Given the description of an element on the screen output the (x, y) to click on. 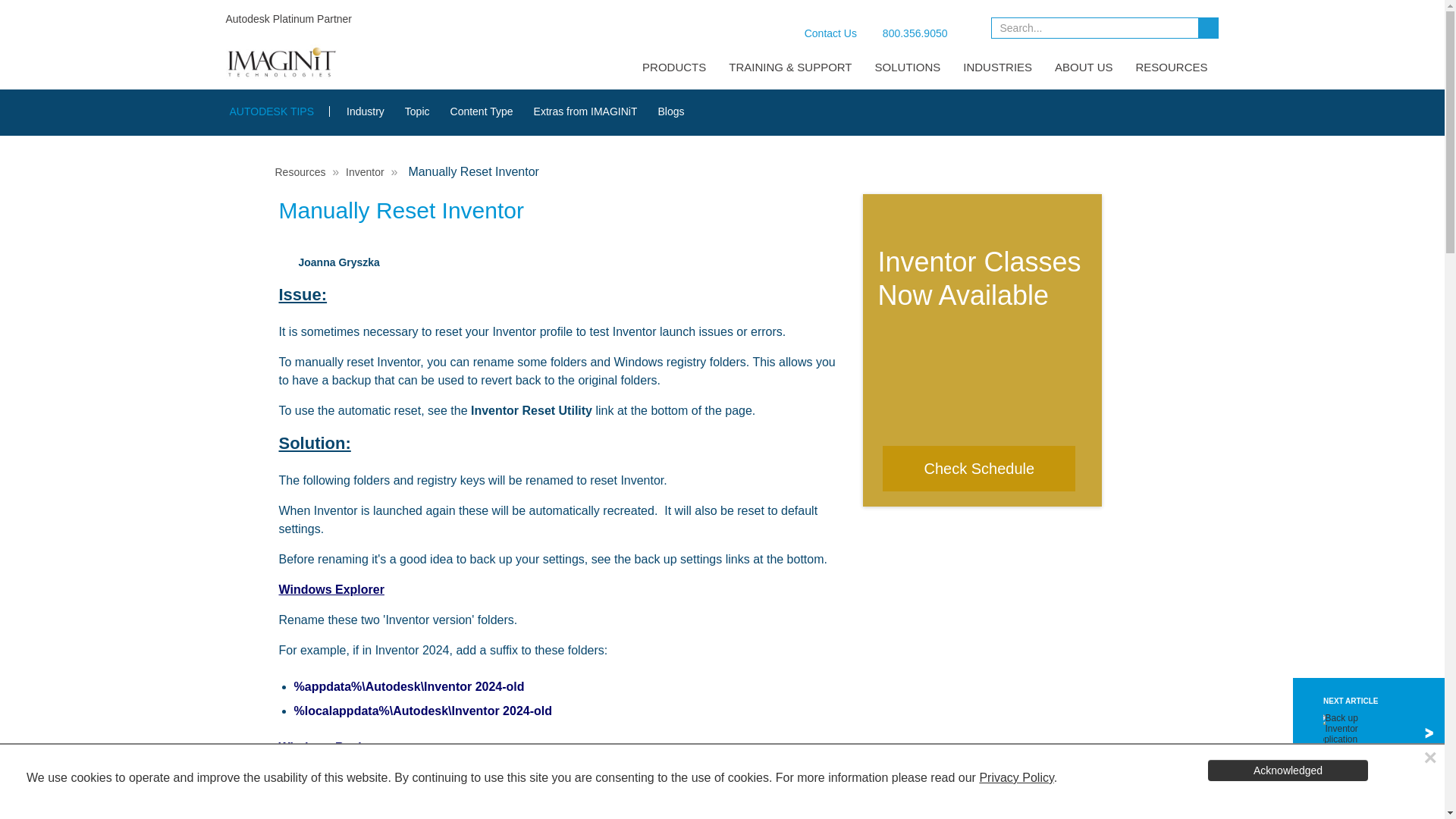
800.356.9050 (905, 31)
PNOW logo (968, 26)
IMAGINiT.com (280, 62)
Search (1210, 27)
Search Site (1104, 30)
PRODUCTS (663, 67)
Contact Us (819, 33)
